Given the description of an element on the screen output the (x, y) to click on. 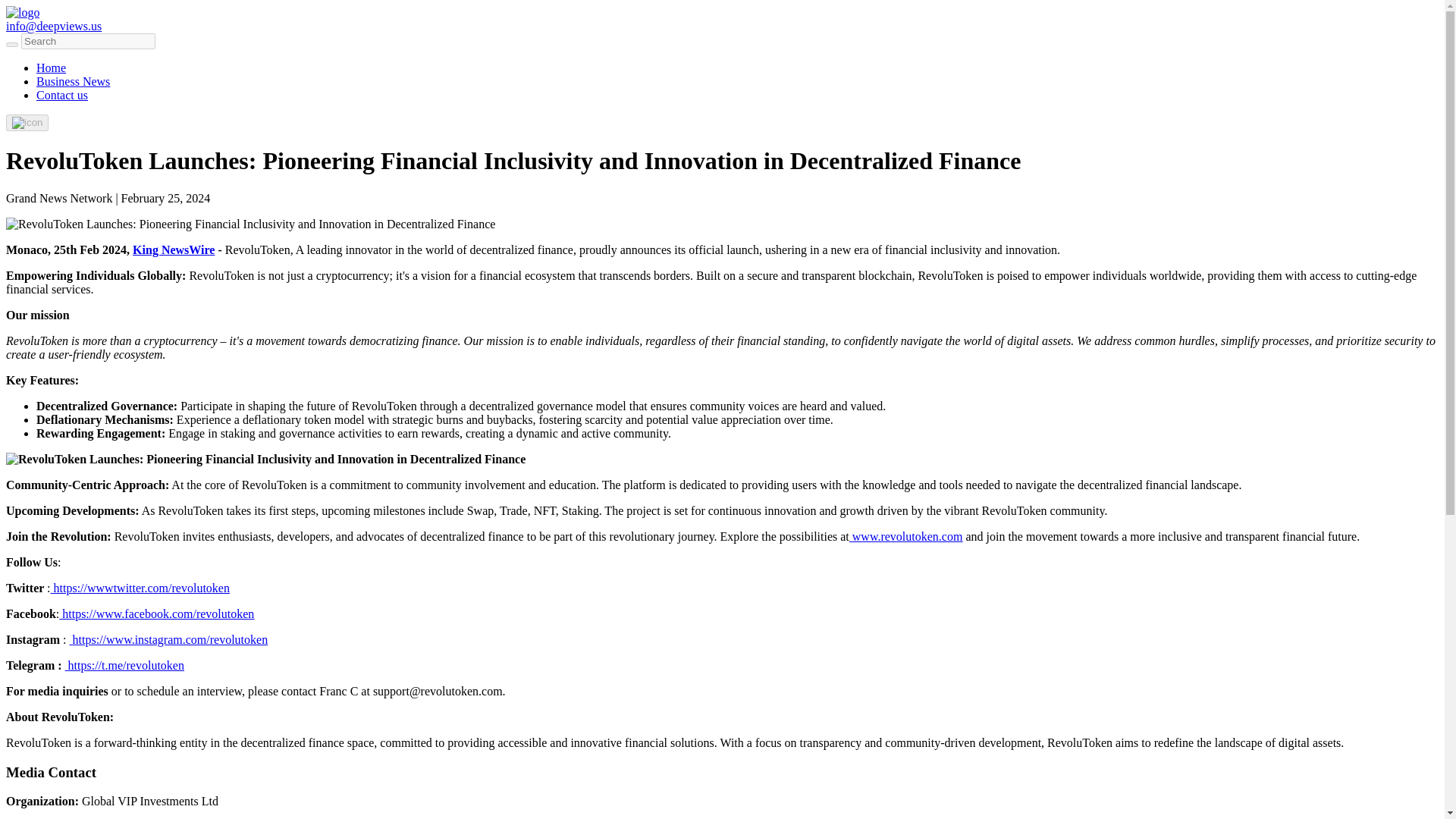
 www.revolutoken.com (905, 535)
Home (50, 67)
King NewsWire (173, 249)
Business News (73, 81)
Contact us (61, 94)
